Given the description of an element on the screen output the (x, y) to click on. 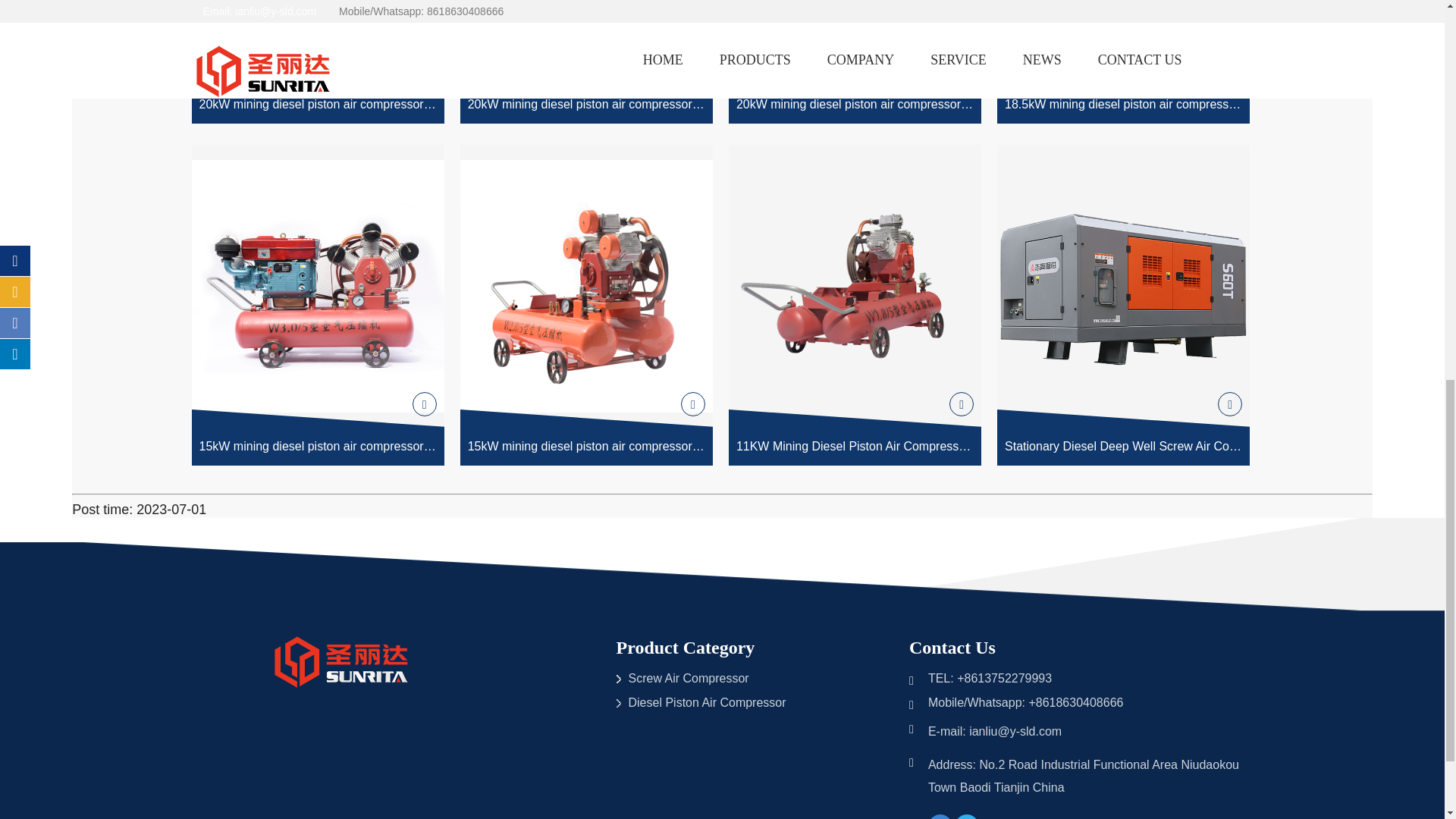
20kW mining diesel piston air compressor W3.2-7 (586, 61)
20kW mining diesel piston air compressor 2V4.0-5 (855, 61)
logo (342, 664)
20kW mining diesel piston air compressor SF4.0-5 (317, 61)
